Given the description of an element on the screen output the (x, y) to click on. 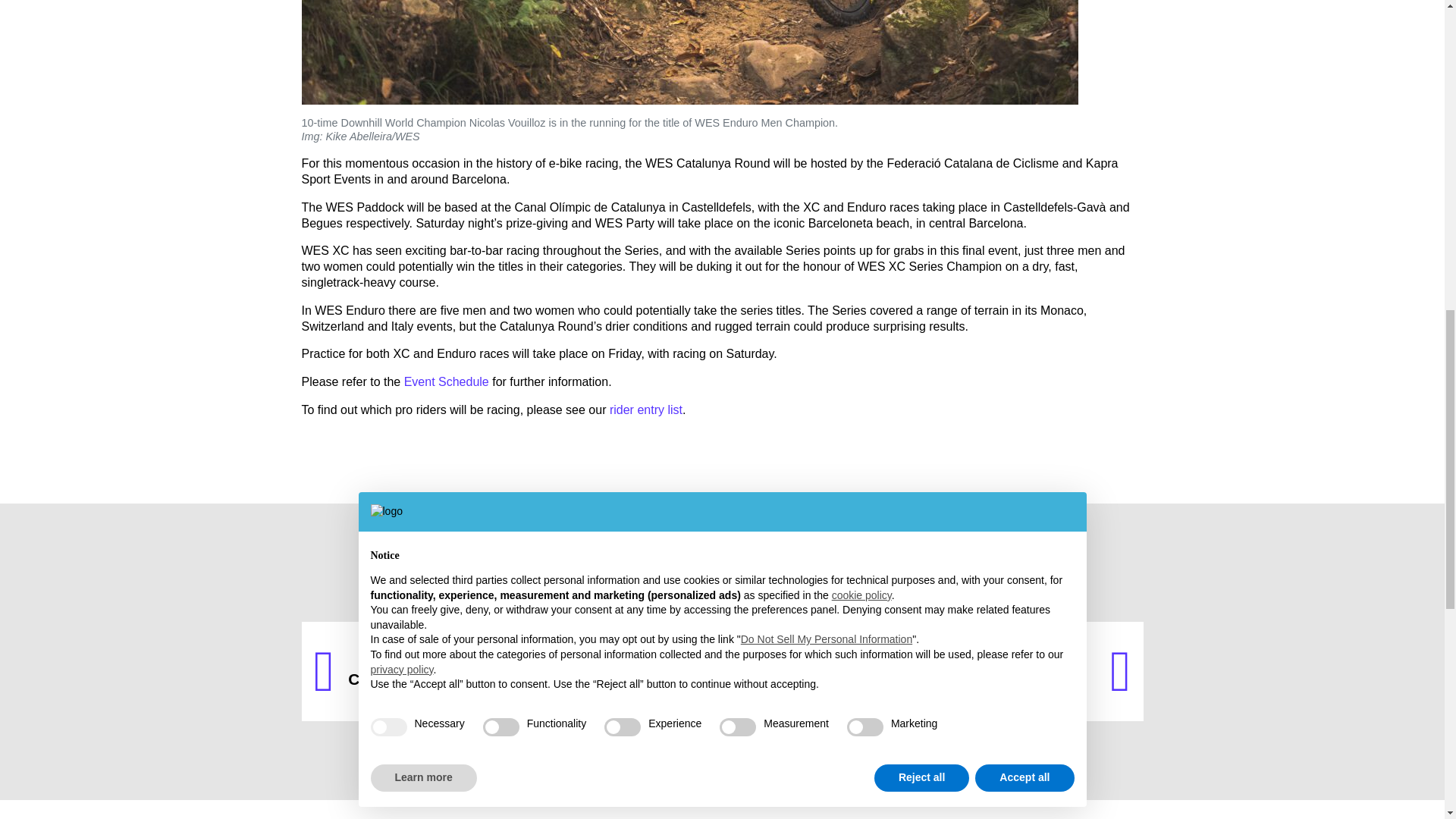
rider entry list (646, 409)
Event Schedule (506, 671)
